Given the description of an element on the screen output the (x, y) to click on. 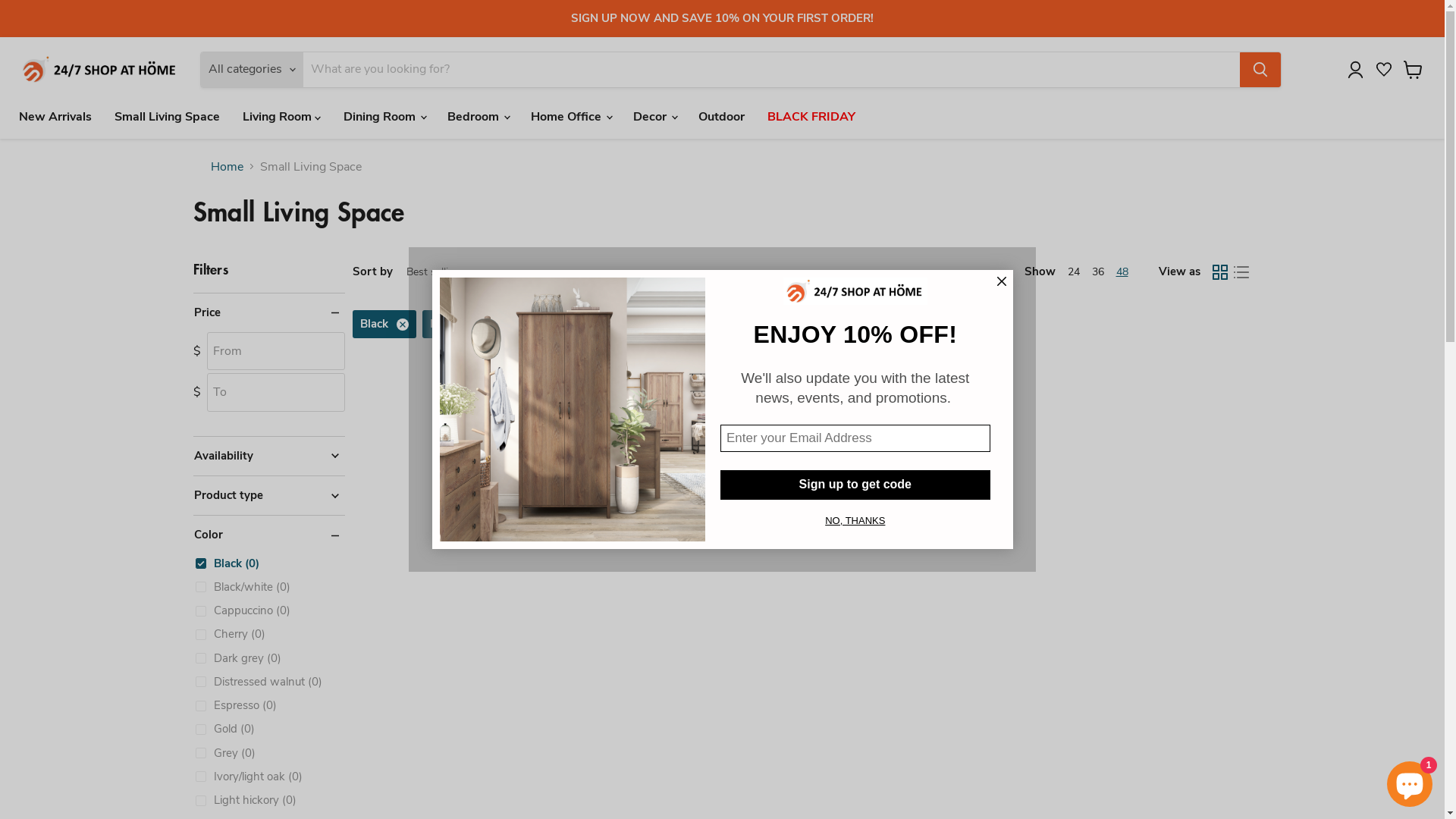
Dark grey (0) Element type: text (237, 658)
Cherry (0) Element type: text (229, 634)
36 Element type: text (1098, 271)
New Arrivals Element type: text (55, 115)
Gold (0) Element type: text (224, 728)
Distressed walnut (0) Element type: text (257, 681)
Shopify online store chat Element type: hover (1409, 780)
Light hickory (0) Element type: text (245, 800)
48 Element type: text (1122, 271)
Ivory/light oak (0) Element type: text (248, 776)
Availability Element type: text (268, 455)
View cart Element type: text (1413, 69)
Small Living Space Element type: text (167, 115)
Black (0) Element type: text (226, 563)
Home Element type: text (226, 165)
View all products Element type: text (801, 408)
Color Element type: text (268, 534)
Outdoor Element type: text (721, 115)
Espresso (0) Element type: text (235, 705)
Product type Element type: text (268, 495)
Price Element type: text (268, 312)
Black/white (0) Element type: text (241, 587)
Clear all Element type: text (542, 323)
Cappuccino (0) Element type: text (241, 610)
24 Element type: text (1073, 271)
BLACK FRIDAY Element type: text (811, 115)
Grey (0) Element type: text (224, 753)
